Given the description of an element on the screen output the (x, y) to click on. 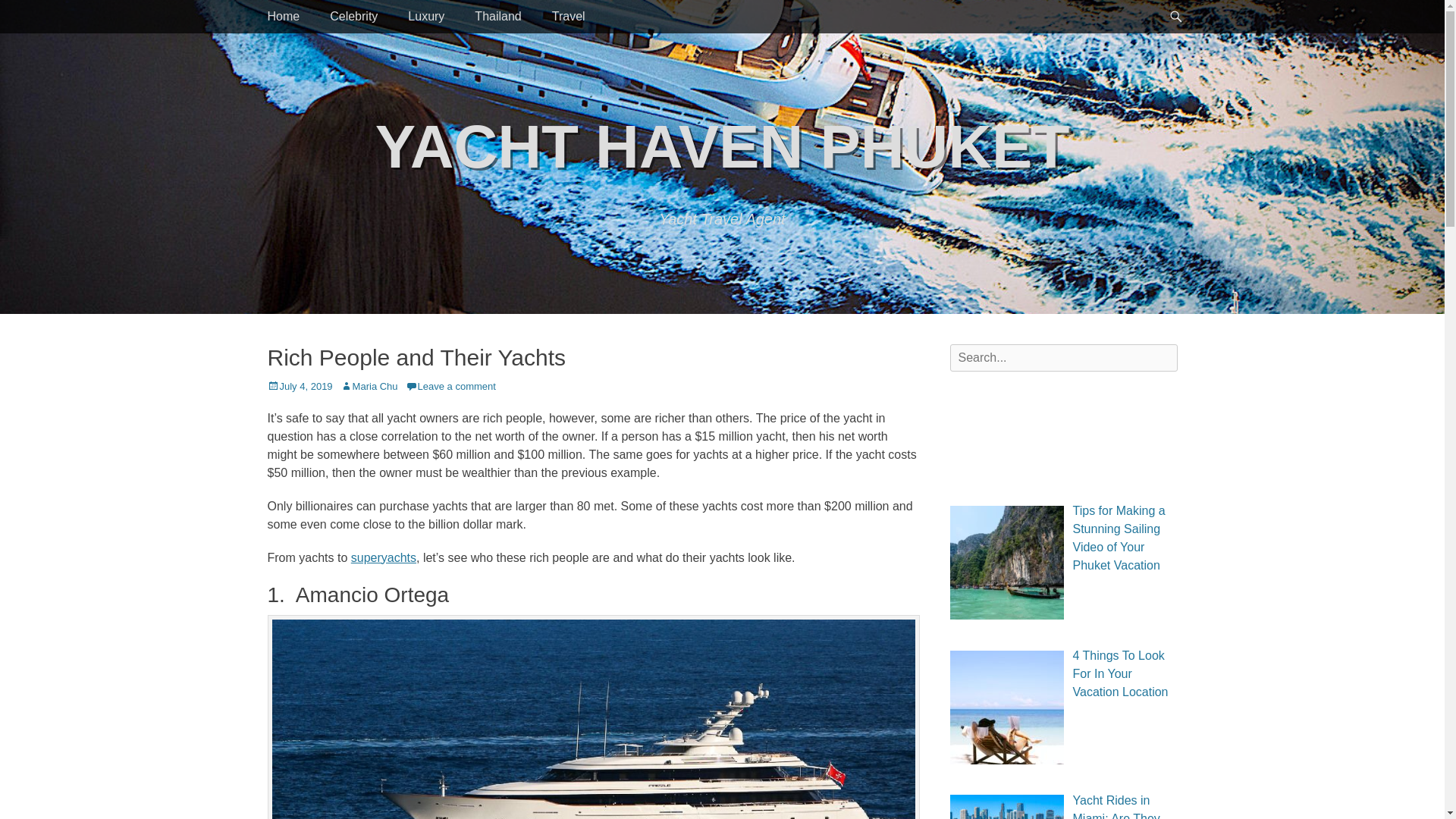
superyachts (383, 556)
Home (282, 16)
4 Things To Look For In Your Vacation Location (1119, 673)
Thailand (497, 16)
Maria Chu (368, 386)
Leave a comment (451, 386)
Search for: (1062, 357)
Luxury (426, 16)
Travel (568, 16)
YACHT HAVEN PHUKET (722, 146)
Search (31, 16)
July 4, 2019 (298, 386)
Celebrity (353, 16)
